Given the description of an element on the screen output the (x, y) to click on. 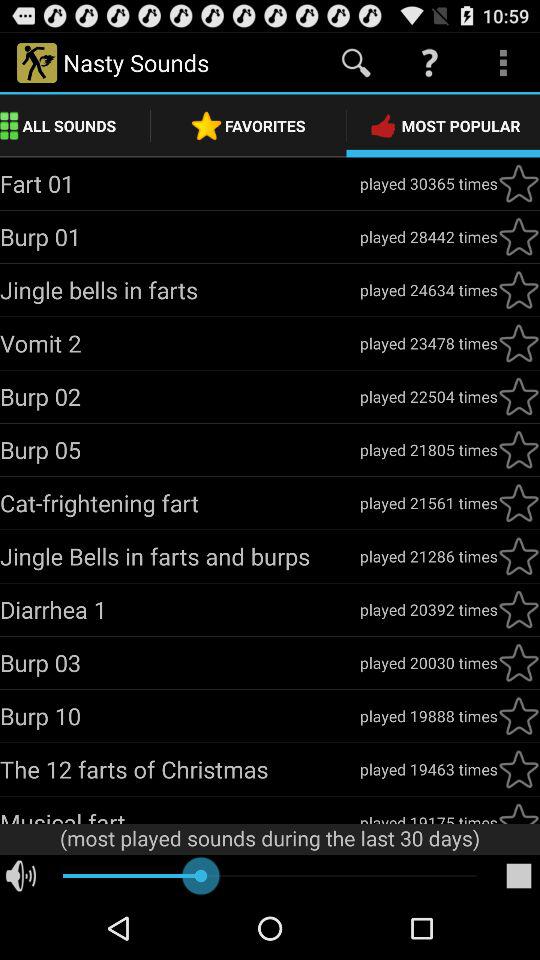
click the rating symbol (519, 237)
